Given the description of an element on the screen output the (x, y) to click on. 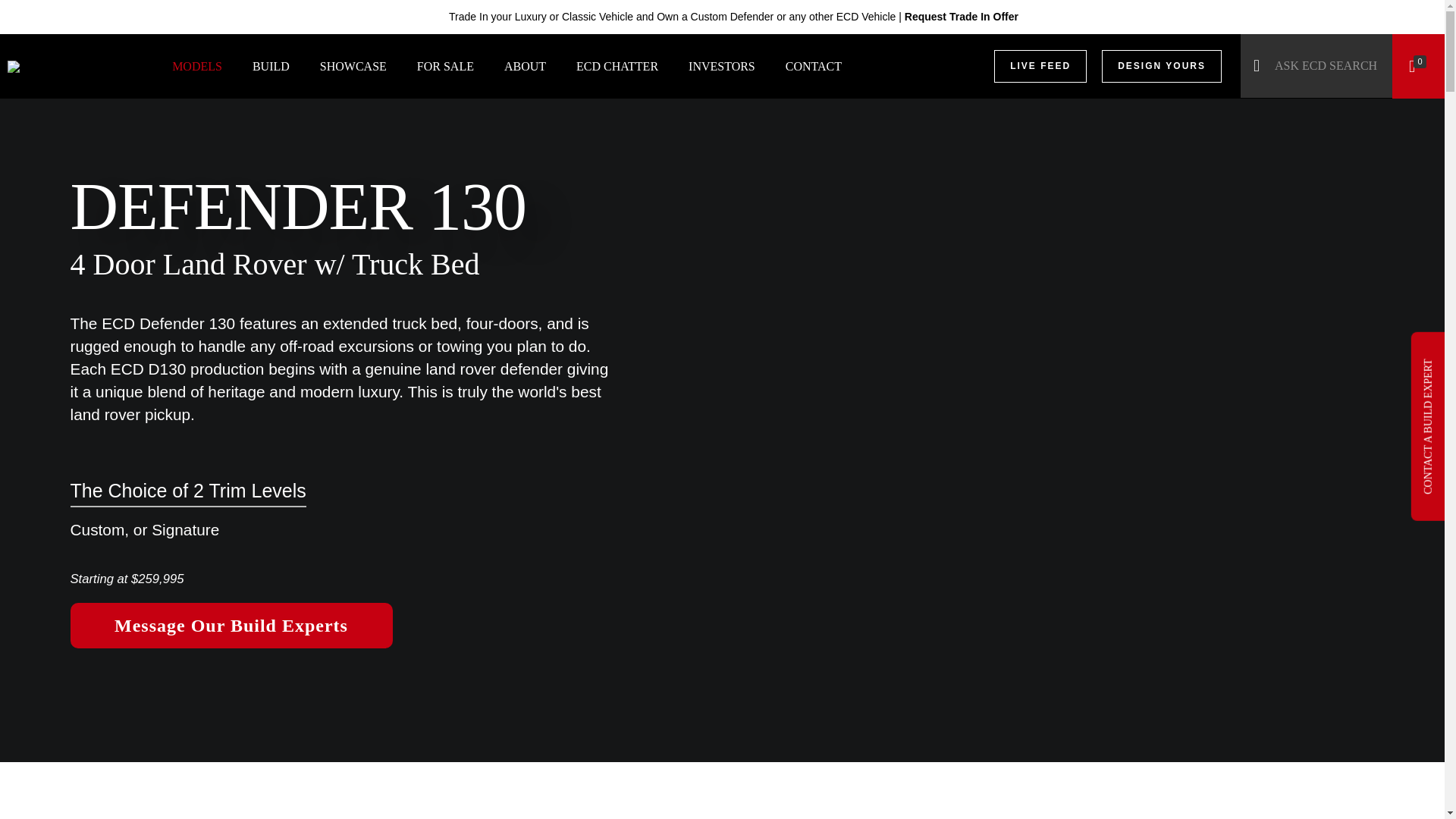
SHOWCASE (352, 66)
BUILD (270, 66)
ABOUT (524, 66)
ECD CHATTER (616, 66)
Request Trade In Offer (960, 16)
FOR SALE (445, 66)
MODELS (197, 66)
